Given the description of an element on the screen output the (x, y) to click on. 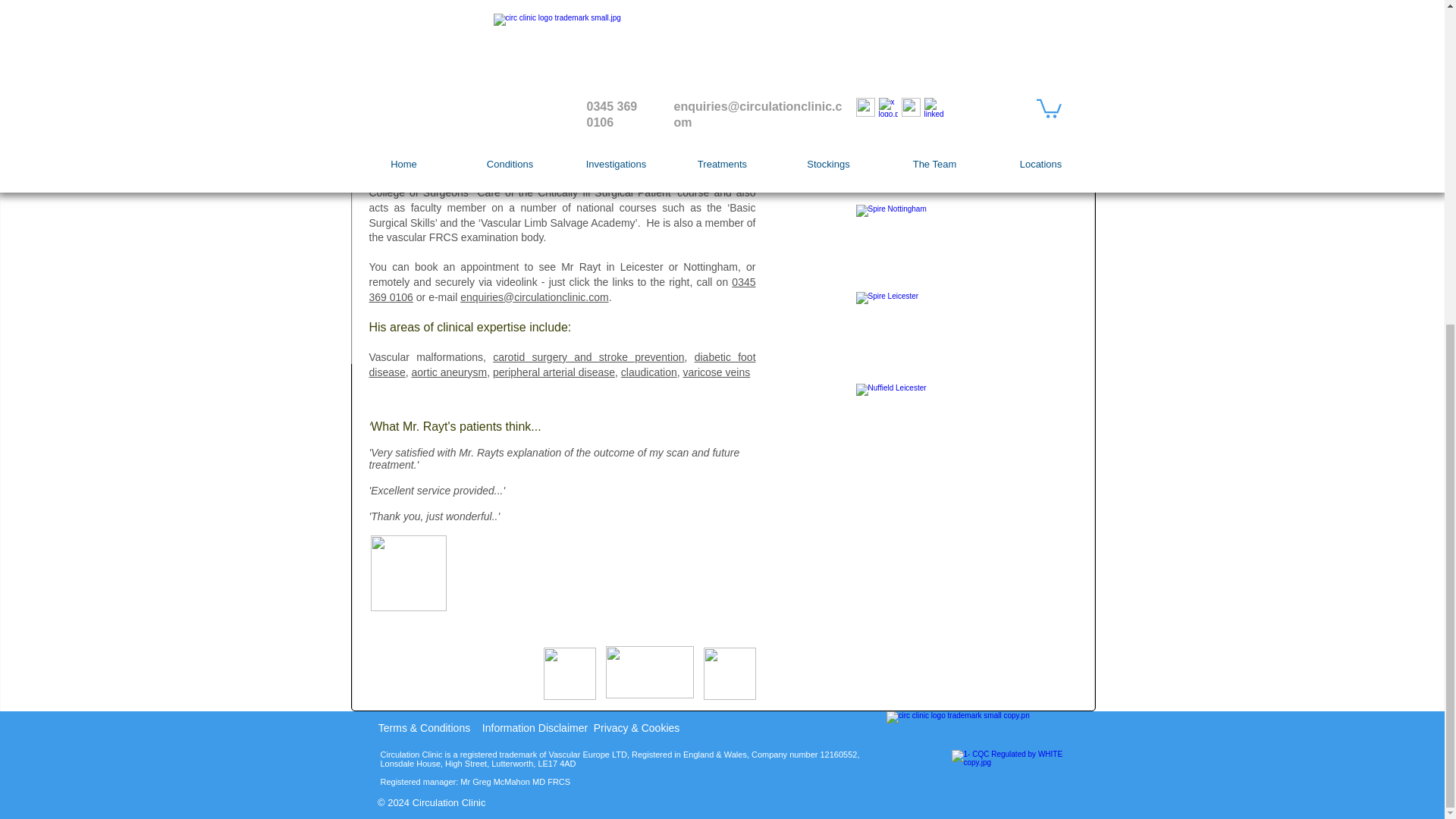
diabetic foot disease (561, 364)
carotid surgery and stroke prevention (588, 357)
spire.png (649, 672)
aortic aneurysm (449, 372)
0345 369 0106 (561, 289)
nuffield health.jpg (569, 673)
claudication (649, 372)
peripheral arterial disease (553, 372)
varicose veins (716, 372)
Information Disclaimer (534, 728)
